Given the description of an element on the screen output the (x, y) to click on. 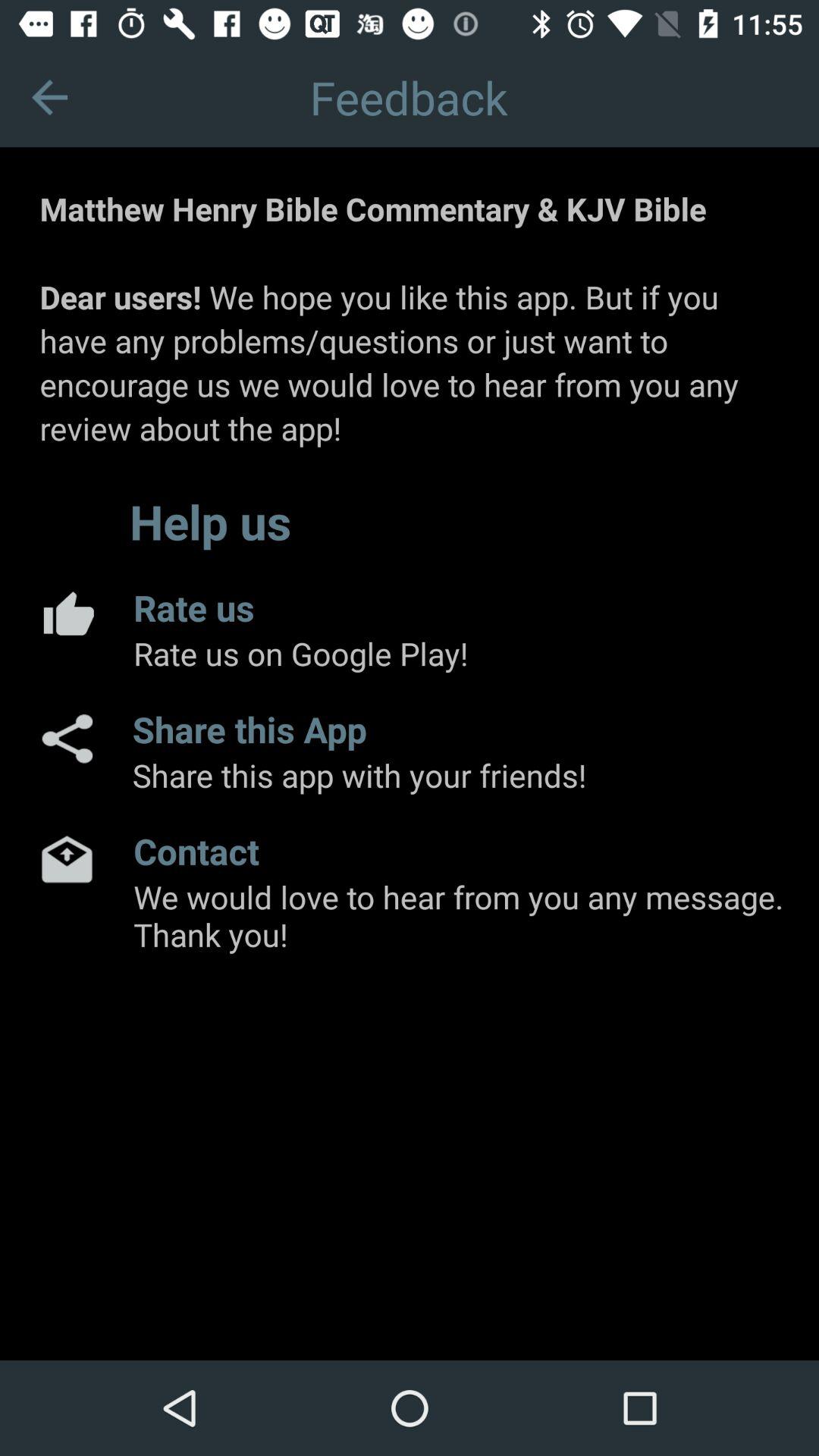
curtir (66, 613)
